Given the description of an element on the screen output the (x, y) to click on. 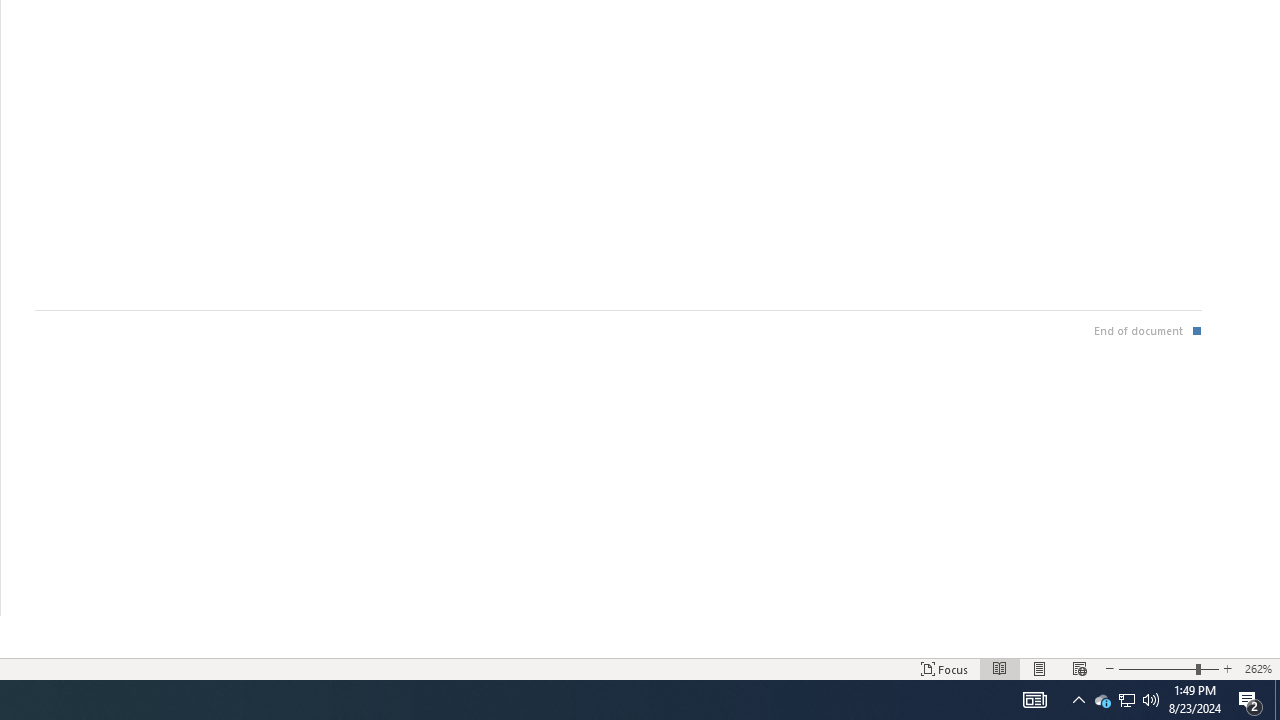
Print Layout (1039, 668)
Web Layout (1079, 668)
Zoom Out (1156, 668)
Zoom In (1209, 668)
Focus  (944, 668)
Read Mode (1000, 668)
Increase Text Size (1227, 668)
Decrease Text Size (1109, 668)
Text Size (1168, 668)
